Given the description of an element on the screen output the (x, y) to click on. 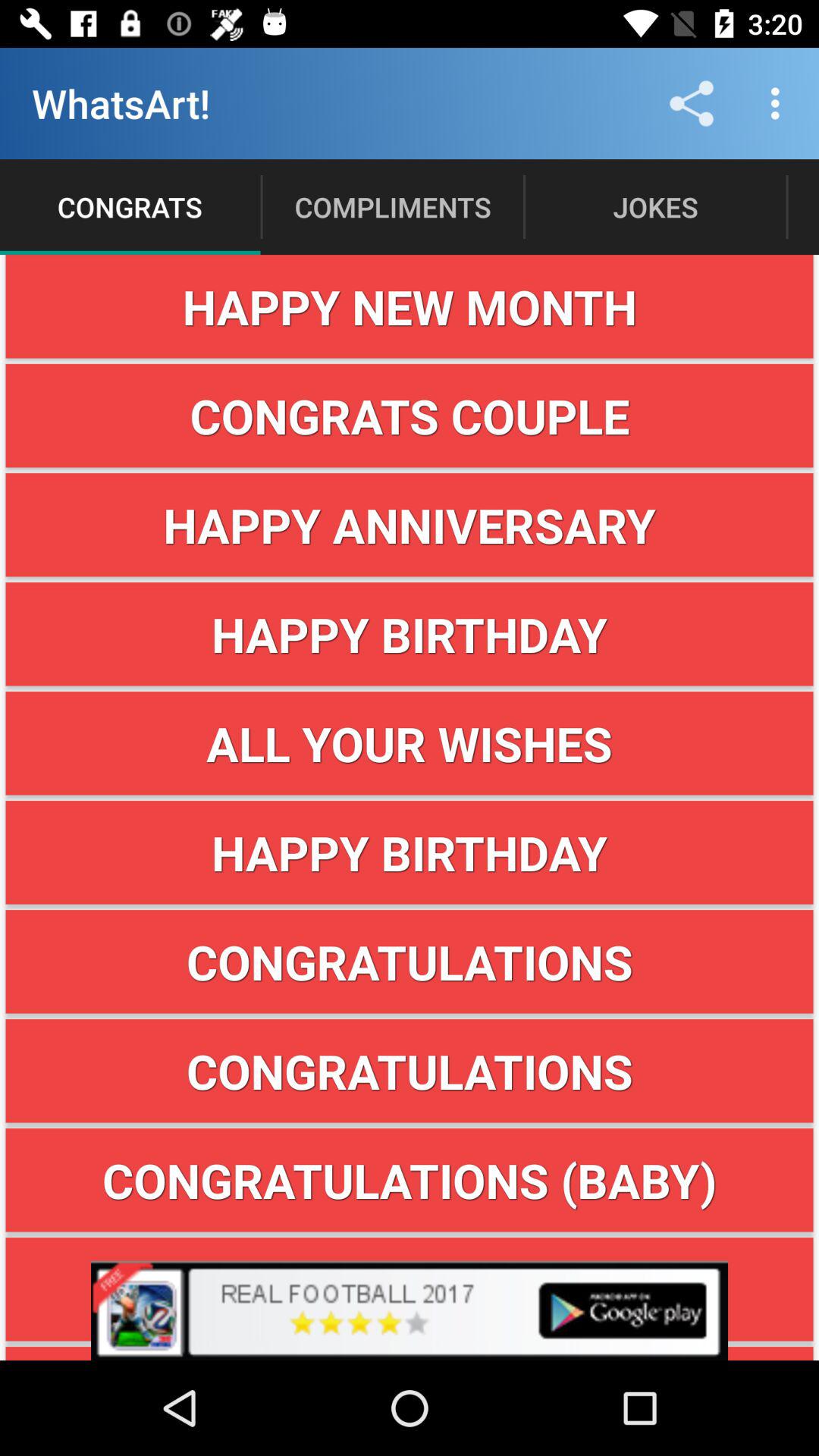
swipe to the wow (409, 1289)
